Given the description of an element on the screen output the (x, y) to click on. 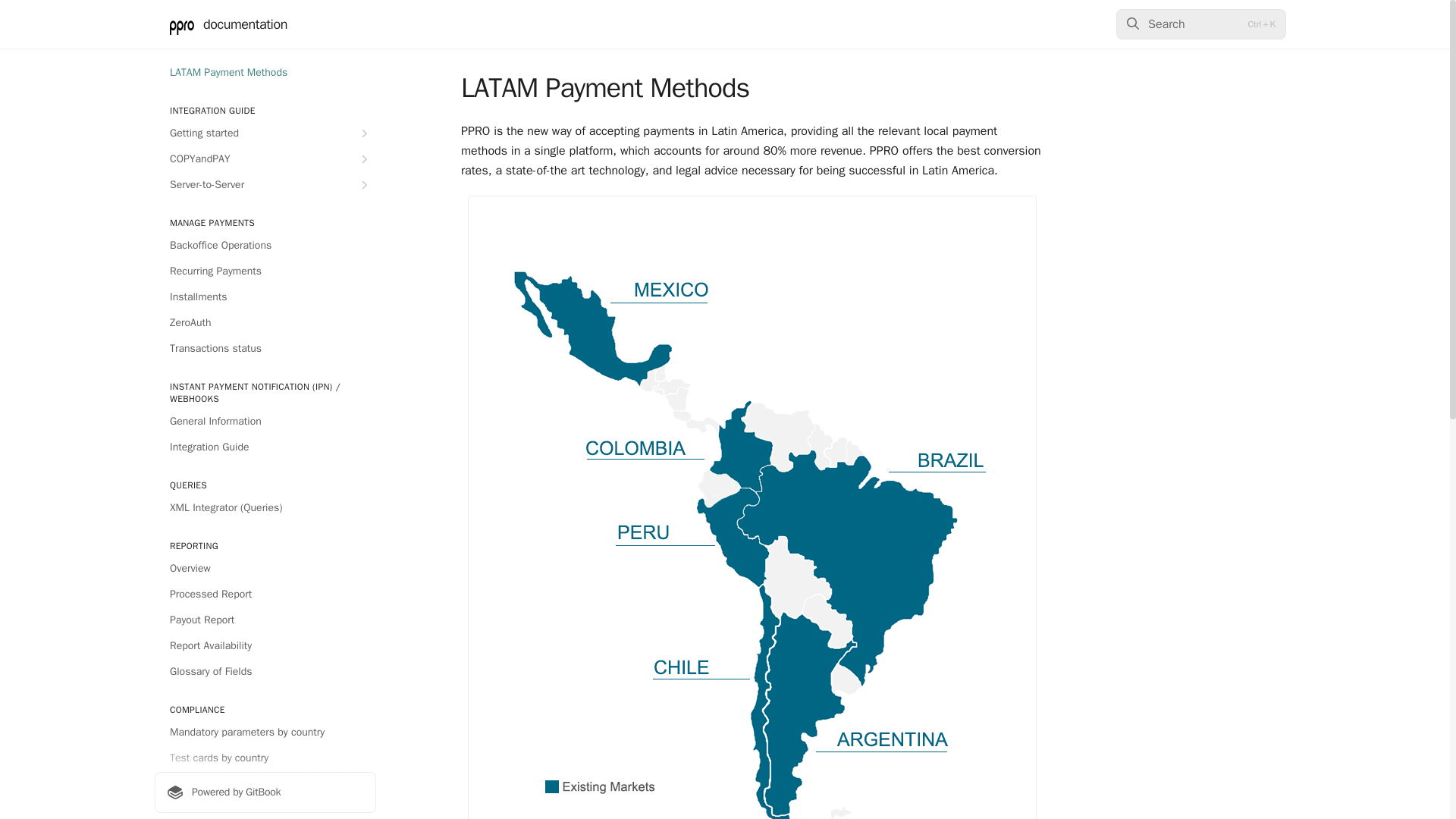
Recurring Payments (264, 271)
Transactions status (264, 348)
Processed Report (264, 594)
Glossary of Fields (264, 671)
Mandatory parameters by country (264, 732)
Backoffice Operations (264, 245)
Integration Guide (264, 446)
Server-to-Server (264, 184)
Getting started (264, 133)
Overview (264, 568)
